Given the description of an element on the screen output the (x, y) to click on. 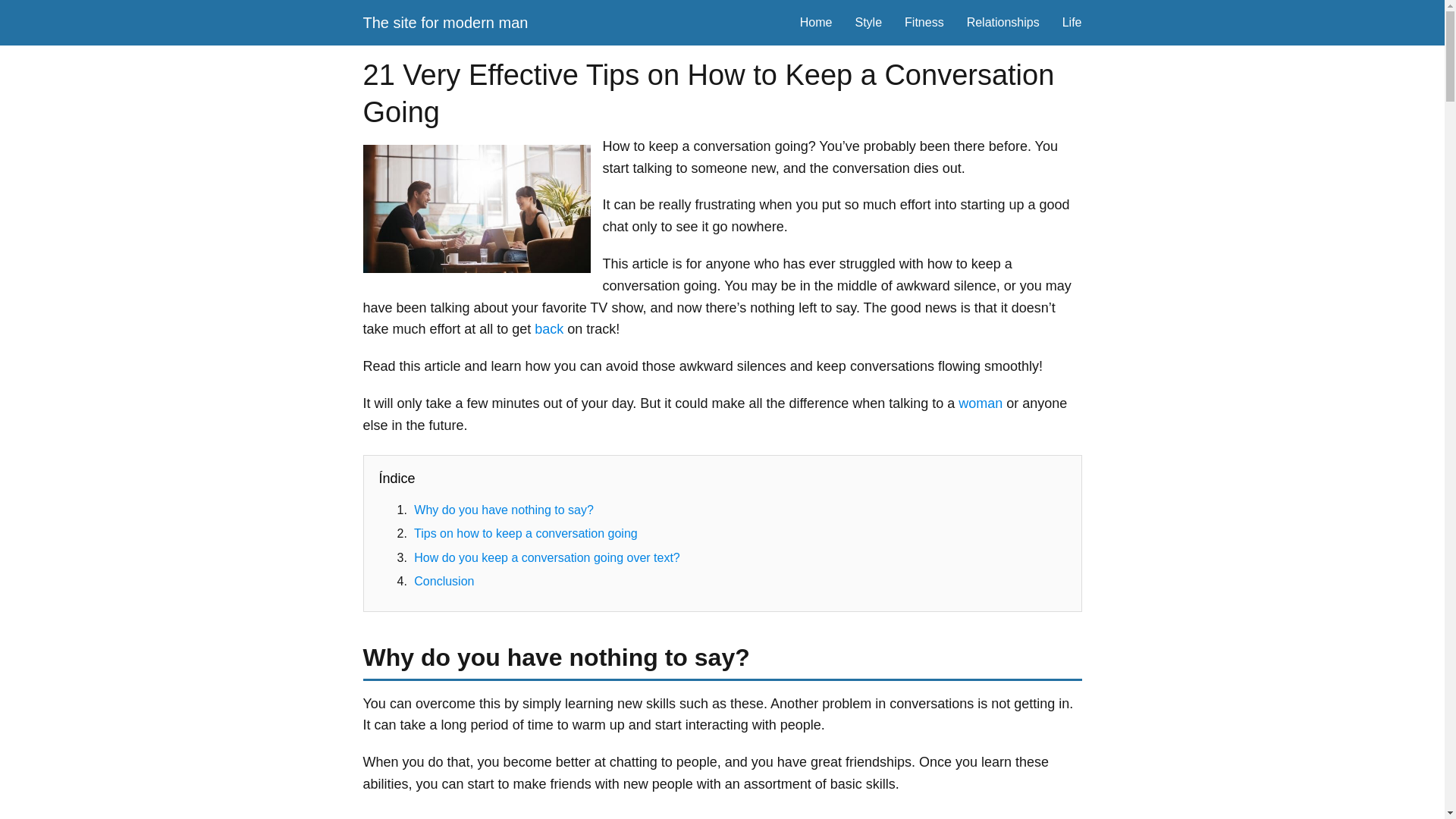
Style (868, 21)
Conclusion (443, 581)
How do you keep a conversation going over text? (546, 557)
How do you keep a conversation going over text? (546, 557)
Fitness (923, 21)
Why do you have nothing to say? (503, 509)
Home (815, 21)
Tips on how to keep a conversation going (525, 533)
Conclusion (443, 581)
Relationships (1002, 21)
The site for modern man (444, 22)
Why do you have nothing to say? (503, 509)
Life (1071, 21)
back (548, 328)
Tips on how to keep a conversation going (525, 533)
